Given the description of an element on the screen output the (x, y) to click on. 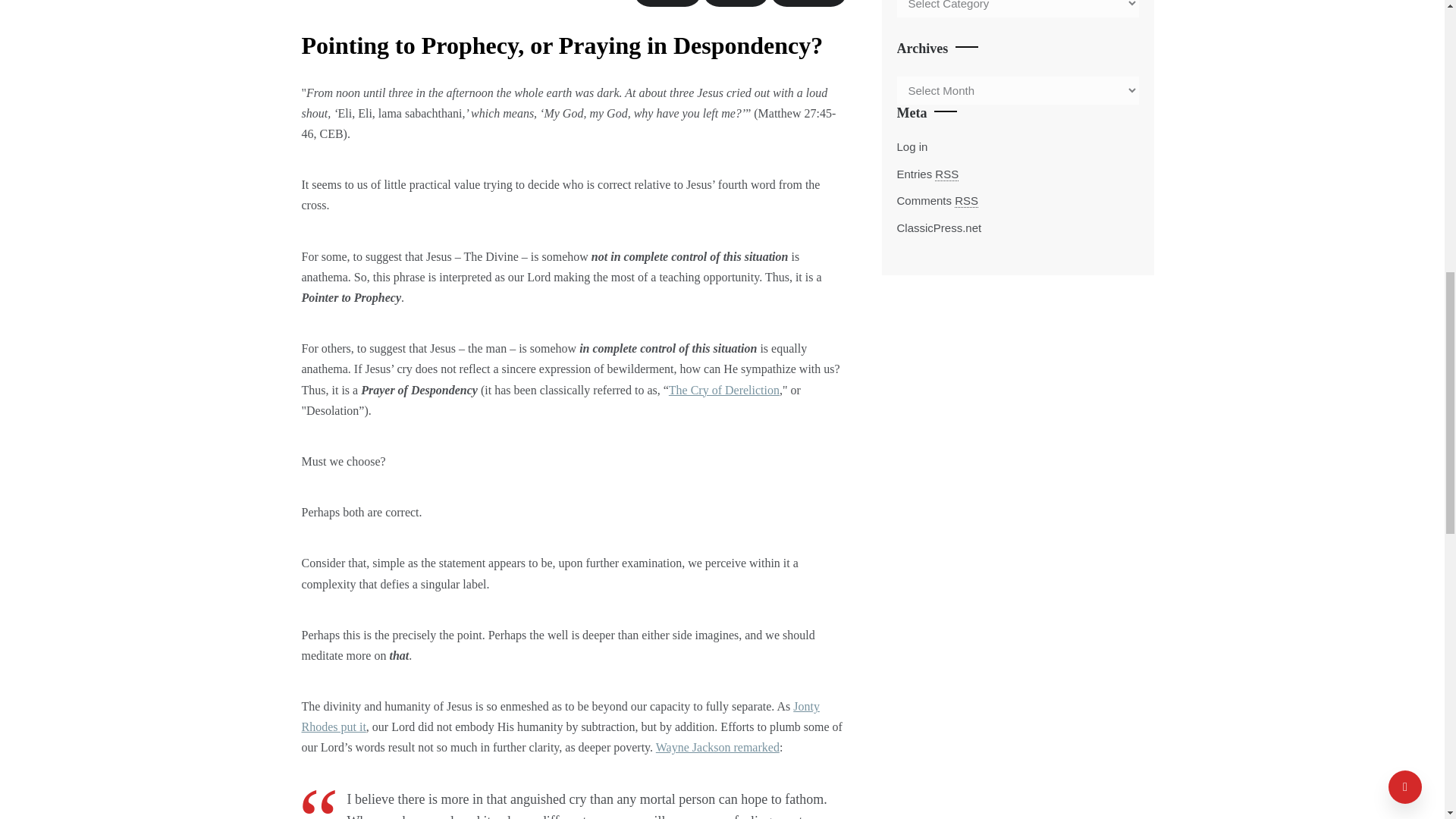
Wayne Jackson remarked (717, 747)
The Cry of Dereliction (723, 390)
Really Simple Syndication (946, 173)
Jonty Rhodes put it (560, 716)
Really Simple Syndication (966, 201)
